Given the description of an element on the screen output the (x, y) to click on. 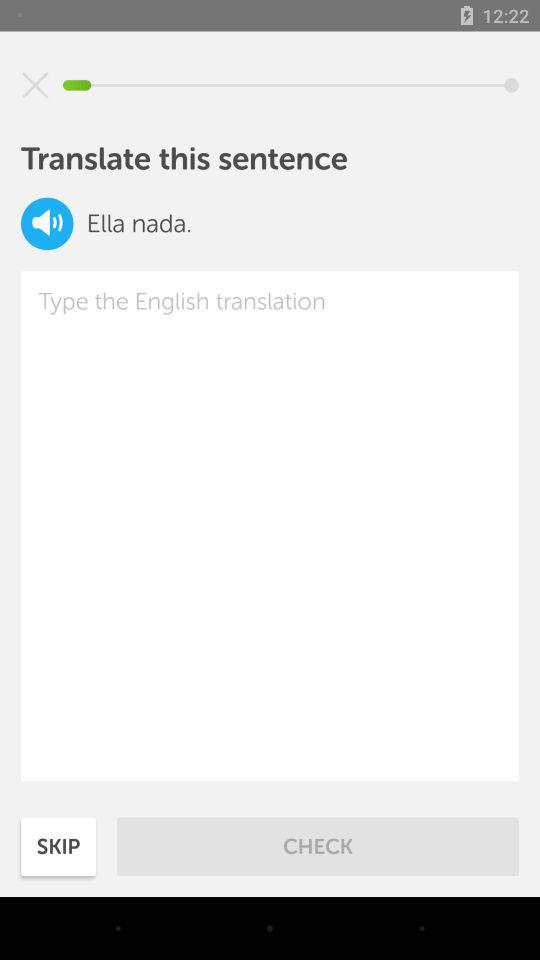
open the item to the left of check icon (58, 846)
